Given the description of an element on the screen output the (x, y) to click on. 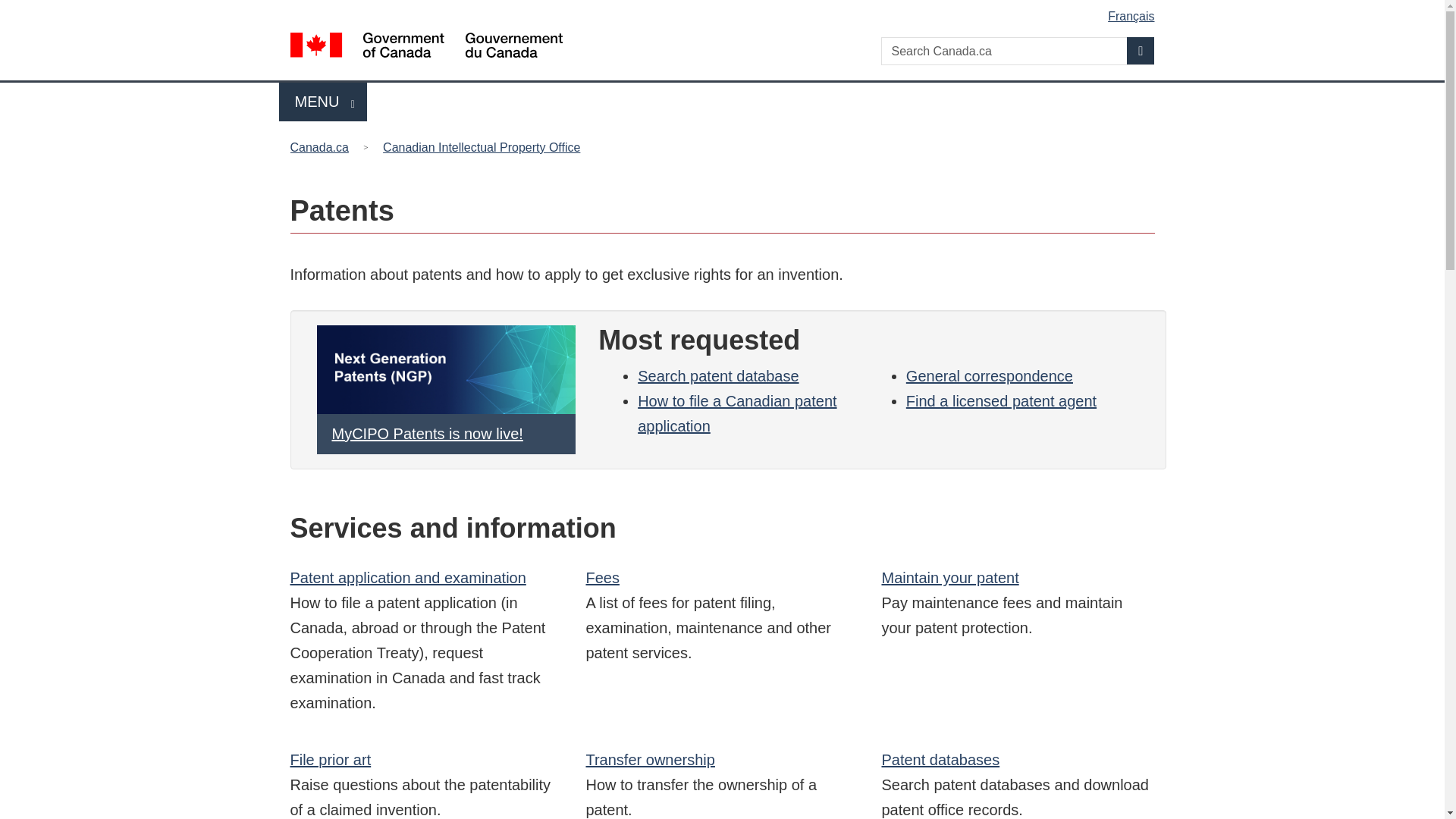
Patent application and examination (407, 577)
File a Canadian patent application: Before you start (736, 413)
Canada.ca (322, 101)
Search (322, 147)
Fees (1140, 50)
How to file a Canadian patent application (601, 577)
Maintain your patent (736, 413)
Transfer ownership (948, 577)
Find a licensed patent agent (649, 759)
Canadian Intellectual Property Office (1000, 401)
Patent databases (481, 147)
File prior art (939, 759)
Patent fees (330, 759)
MyCIPO Patents is now live! (601, 577)
